Given the description of an element on the screen output the (x, y) to click on. 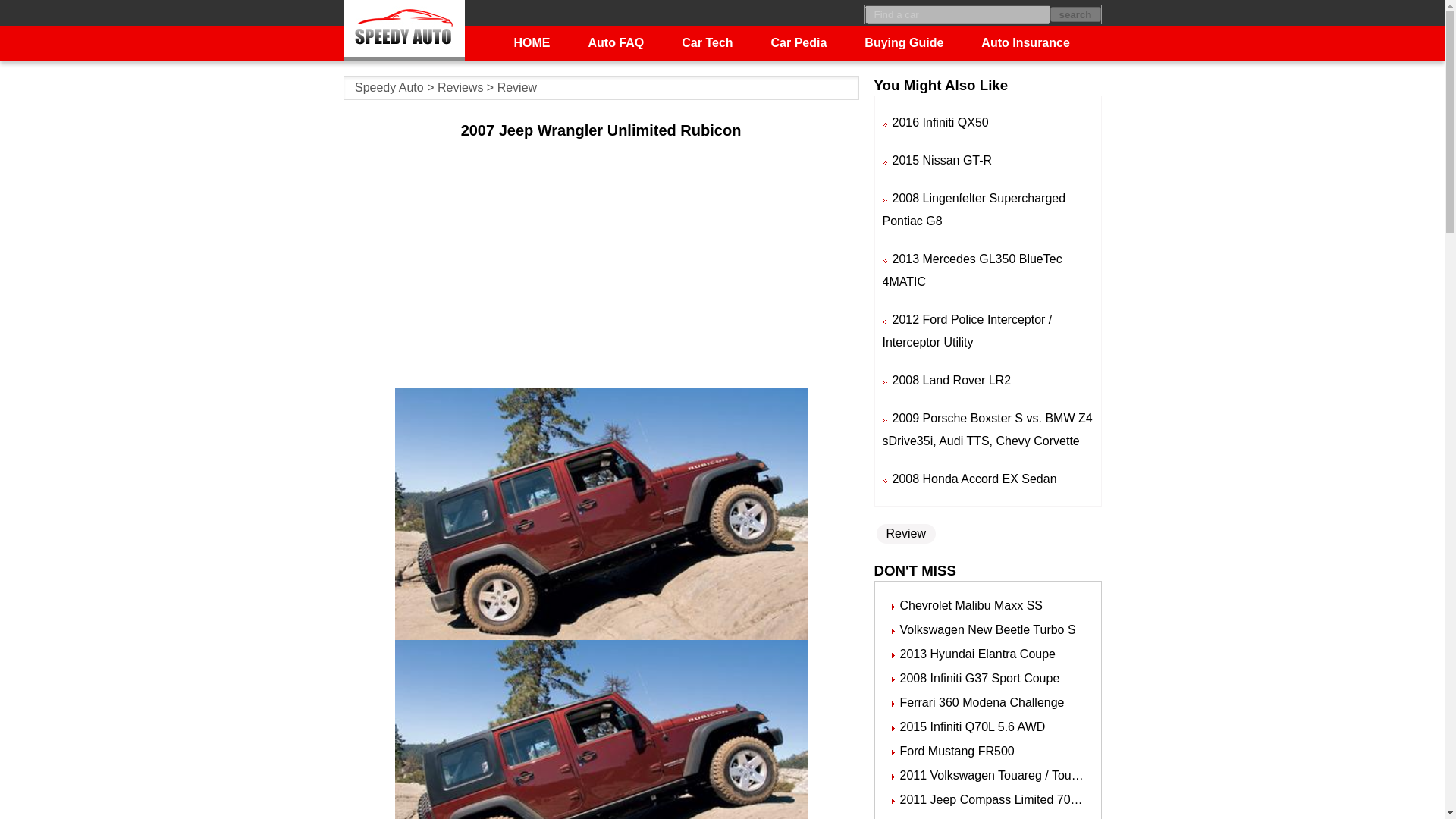
Find a car (956, 13)
search (1074, 14)
Car Tech (706, 42)
2008 Land Rover LR2 (950, 379)
Auto FAQ (616, 42)
Car Pedia (799, 42)
Review (517, 87)
Speedy Auto (389, 87)
2008 Honda Accord EX Sedan (974, 478)
Auto FAQ (616, 42)
search (1074, 14)
Review (906, 533)
2016 Infiniti QX50 (939, 122)
HOME (531, 42)
